Given the description of an element on the screen output the (x, y) to click on. 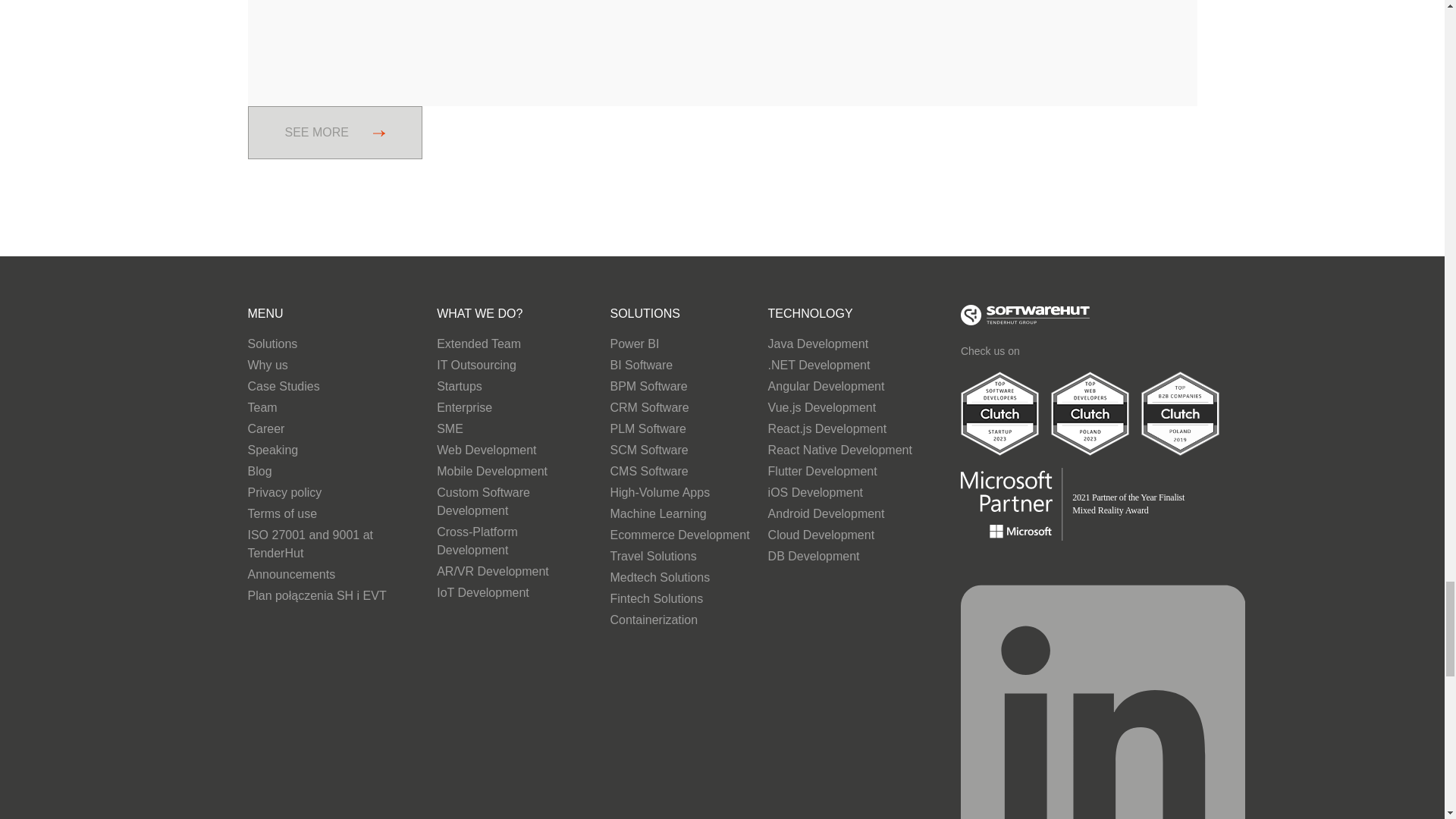
ISO 27001 and 9001 at TenderHut (333, 545)
Cross-Platform Development (513, 542)
Why us (333, 366)
Startups (513, 387)
SME (513, 430)
Blog (333, 473)
Speaking (333, 451)
Solutions (333, 345)
Power BI (679, 345)
Extended Team (513, 345)
